Given the description of an element on the screen output the (x, y) to click on. 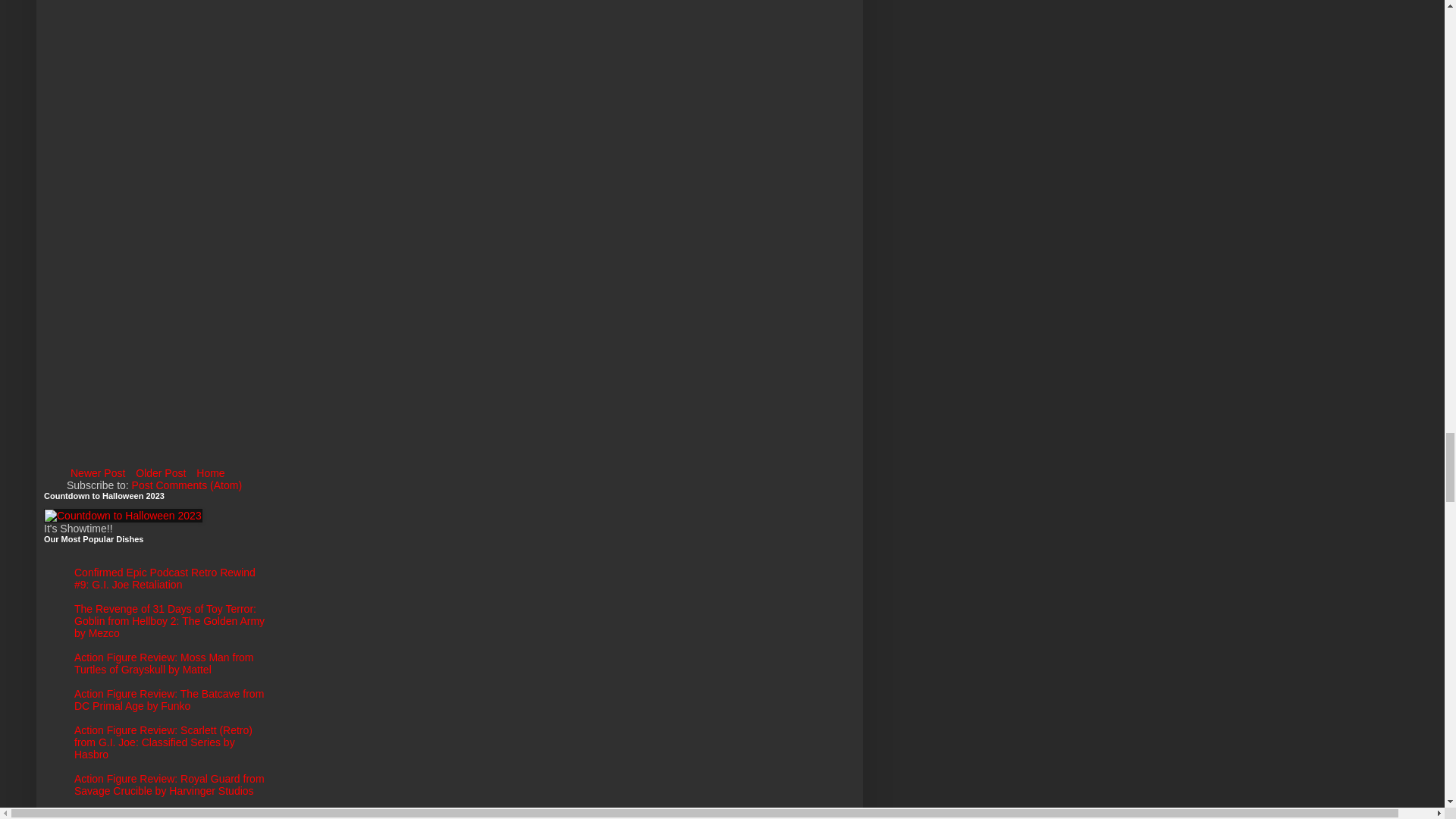
Older Post (160, 473)
Newer Post (97, 473)
